Given the description of an element on the screen output the (x, y) to click on. 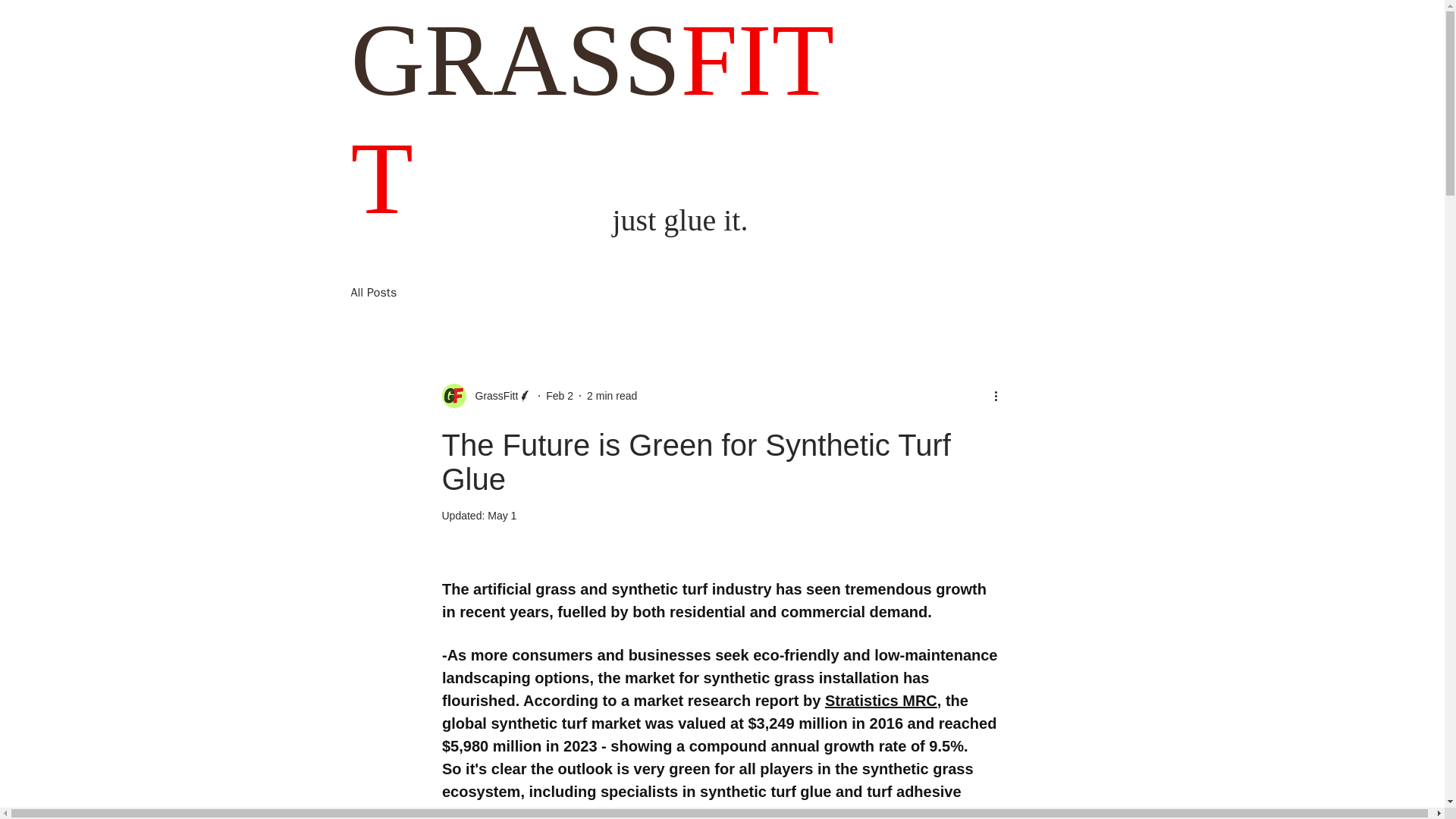
Feb 2 (559, 395)
GrassFitt (491, 396)
GrassFitt (486, 395)
Stratistics MRC (880, 701)
2 min read (611, 395)
FITT (592, 119)
All Posts (373, 293)
GRASS (514, 60)
May 1 (501, 515)
